Given the description of an element on the screen output the (x, y) to click on. 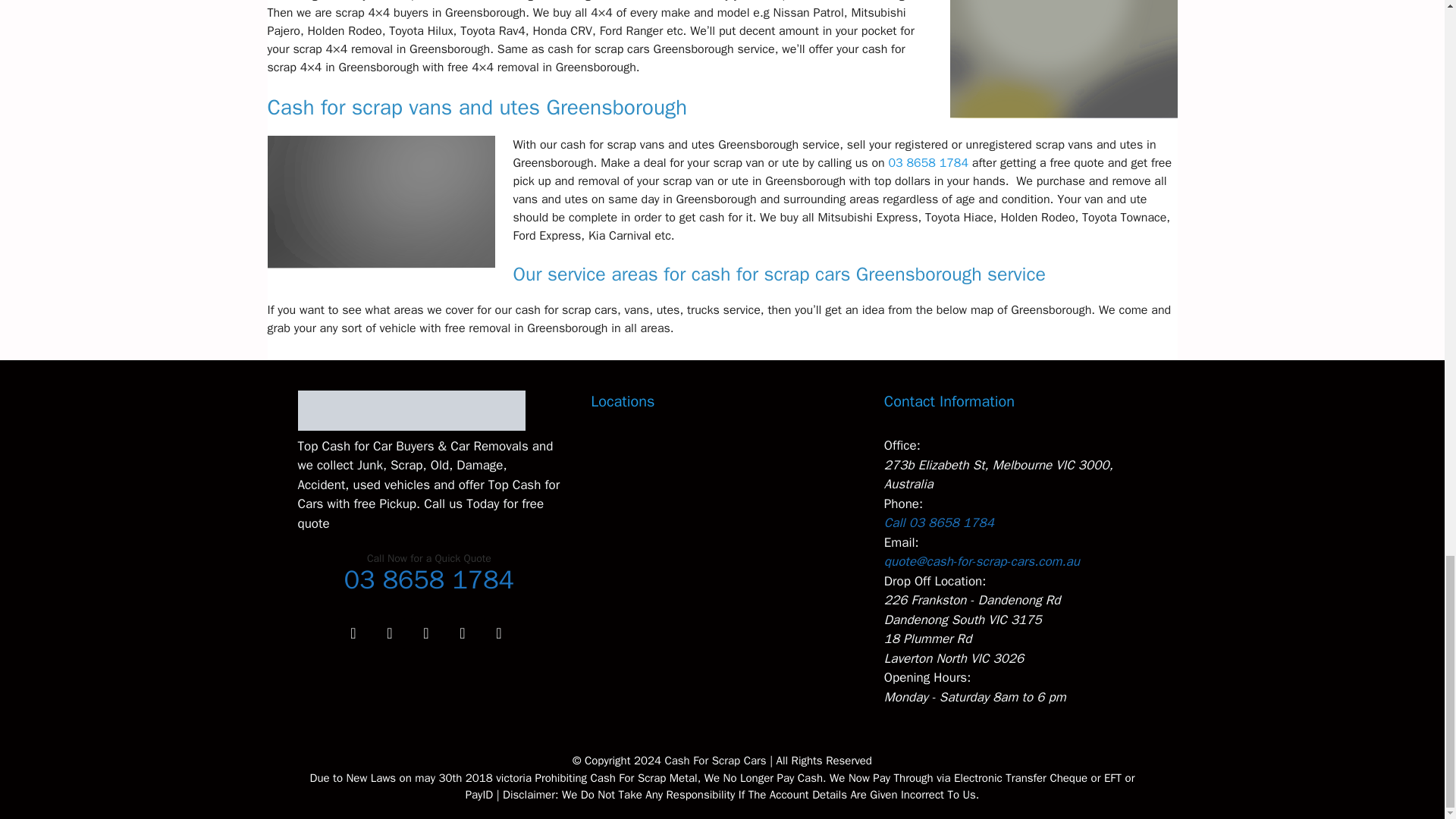
LinkedIn (425, 633)
Sell scrap van and ute in Greensborough Today (380, 201)
Cash for scrap 4x4 in Greensborough (1062, 58)
Twitter (389, 633)
Pinterest (498, 633)
Facebook (352, 633)
03 8658 1784 (928, 162)
Instagram (461, 633)
